Given the description of an element on the screen output the (x, y) to click on. 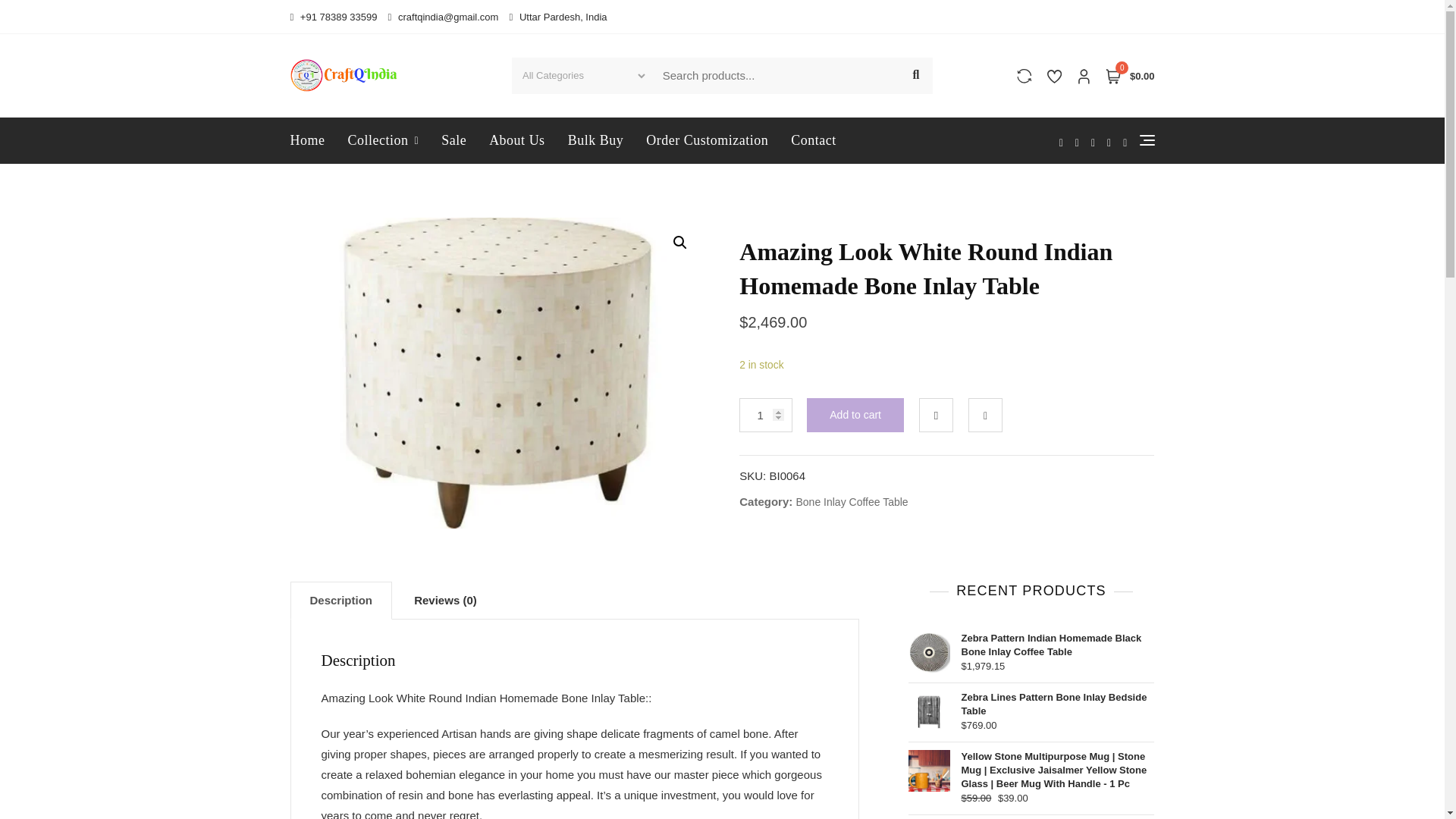
Contact (812, 140)
1 (765, 415)
Bulk Buy (595, 140)
Order Customization (706, 140)
About Us (516, 140)
Collection (383, 140)
Home (312, 140)
Sale (453, 140)
